Given the description of an element on the screen output the (x, y) to click on. 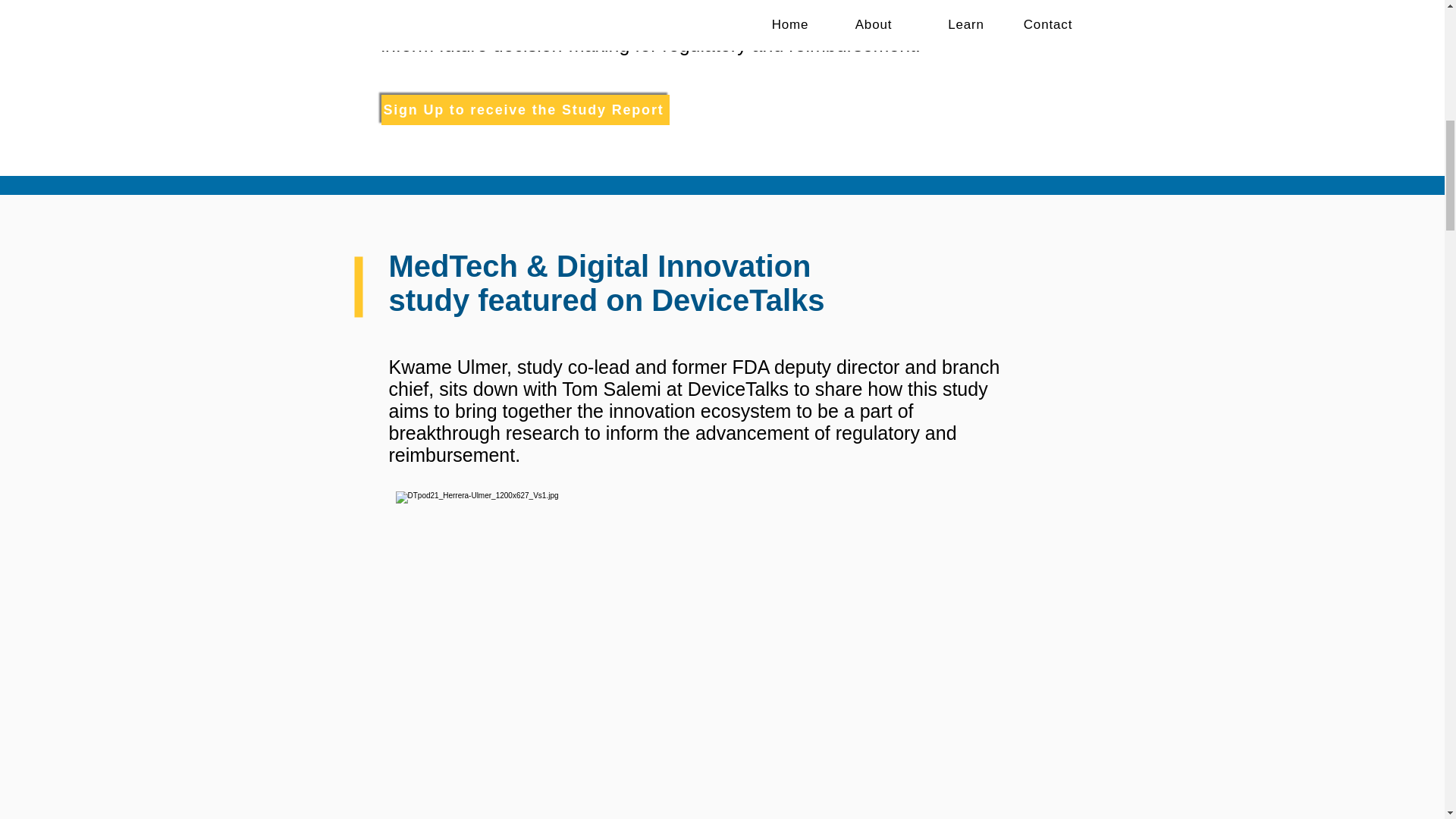
Sign Up to receive the Study Report (524, 110)
